Given the description of an element on the screen output the (x, y) to click on. 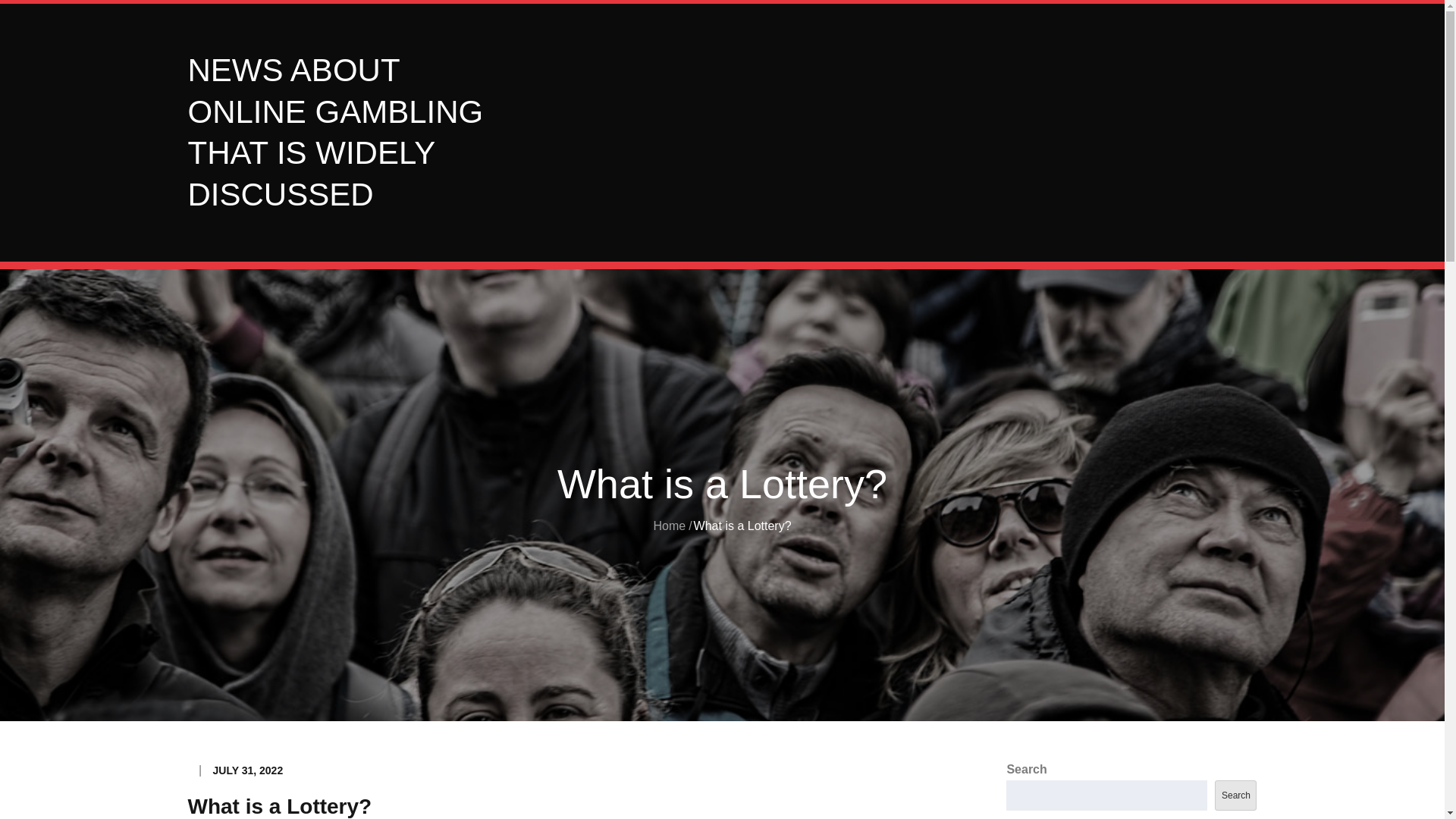
NEWS ABOUT ONLINE GAMBLING THAT IS WIDELY DISCUSSED (335, 132)
Search (1235, 795)
Home (668, 525)
JULY 31, 2022 (247, 770)
